Given the description of an element on the screen output the (x, y) to click on. 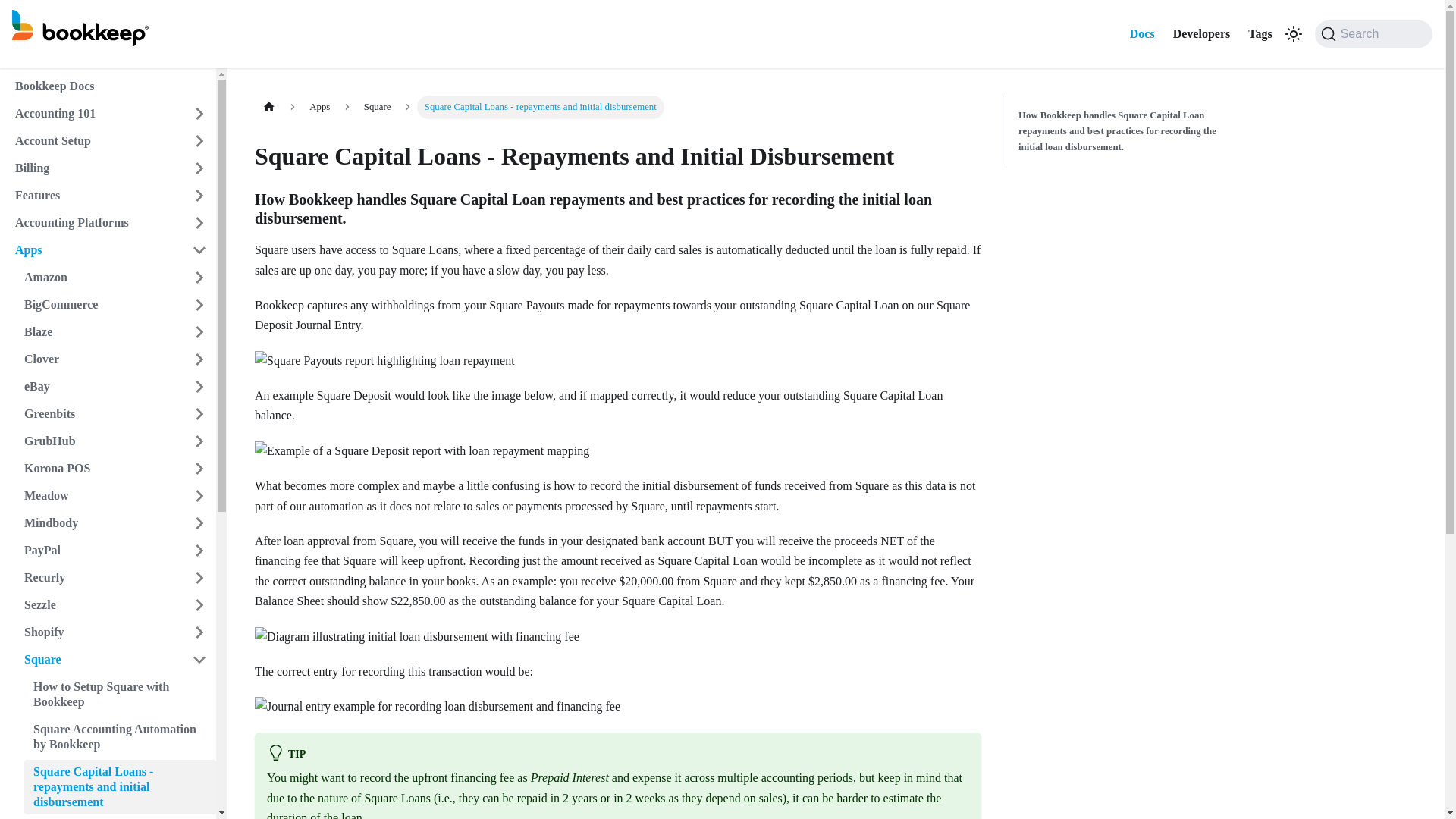
Tags (1260, 33)
Greenbits (98, 413)
Apps (94, 250)
GrubHub (98, 441)
Billing (94, 168)
Account Setup (94, 140)
eBay (98, 386)
Docs (1142, 33)
Developers (1201, 33)
Clover (98, 359)
